Given the description of an element on the screen output the (x, y) to click on. 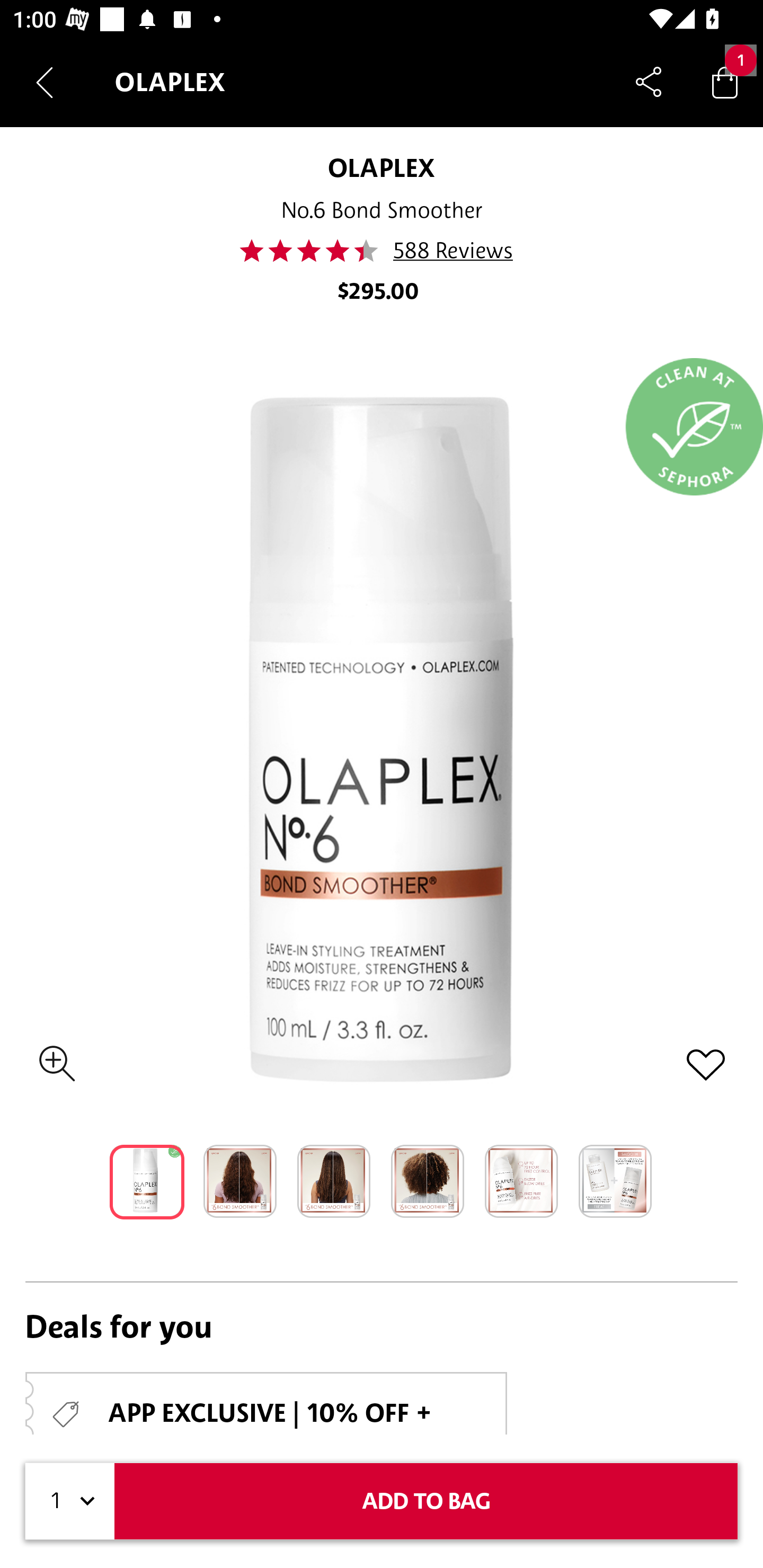
Navigate up (44, 82)
Share (648, 81)
Bag (724, 81)
OLAPLEX (381, 167)
44.0 588 Reviews (381, 250)
1 (69, 1500)
ADD TO BAG (425, 1500)
